Given the description of an element on the screen output the (x, y) to click on. 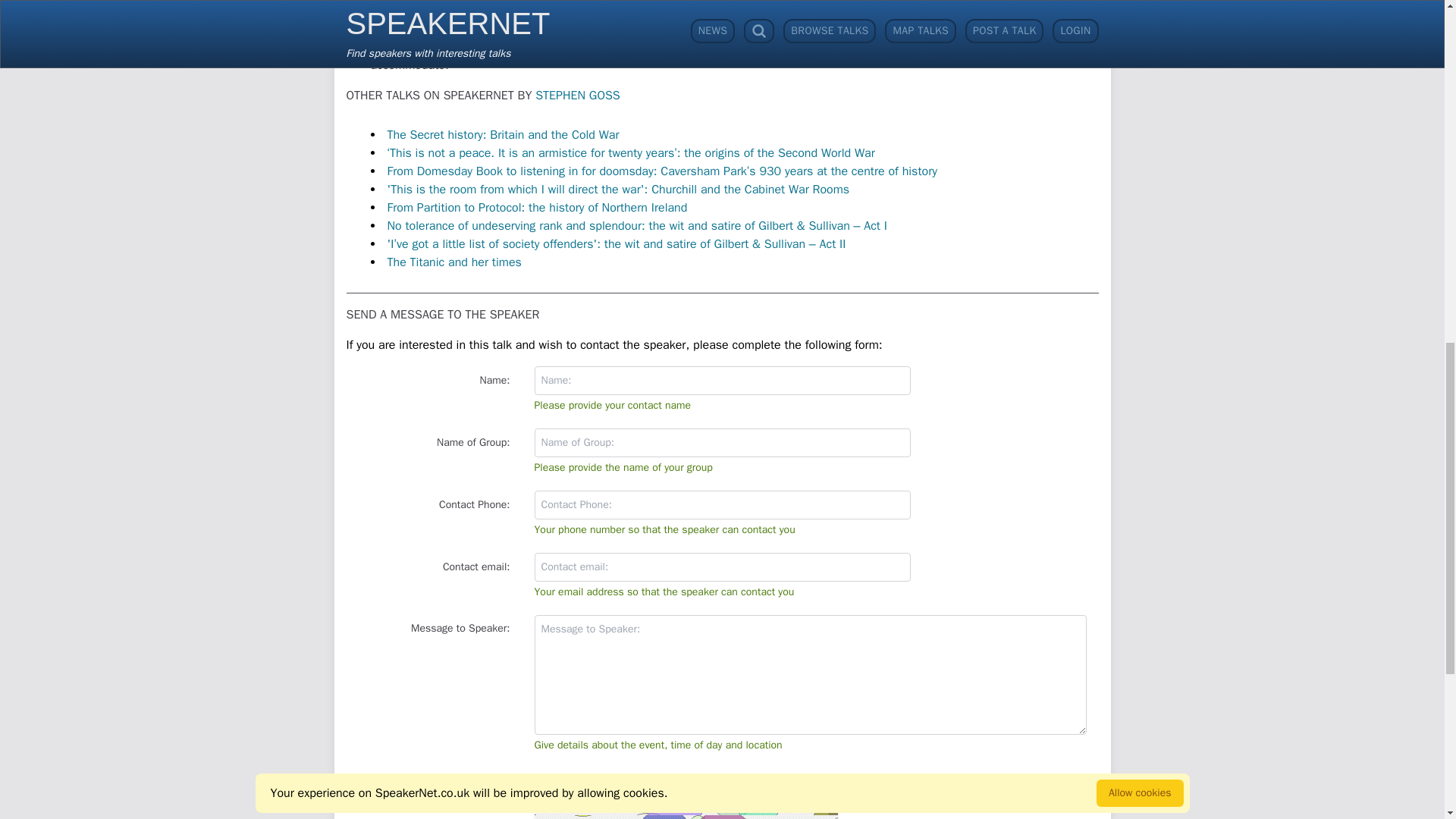
STEPHEN GOSS (577, 95)
From Partition to Protocol: the history of Northern Ireland (537, 207)
The Secret history: Britain and the Cold War (502, 134)
The Titanic and her times (454, 262)
